Given the description of an element on the screen output the (x, y) to click on. 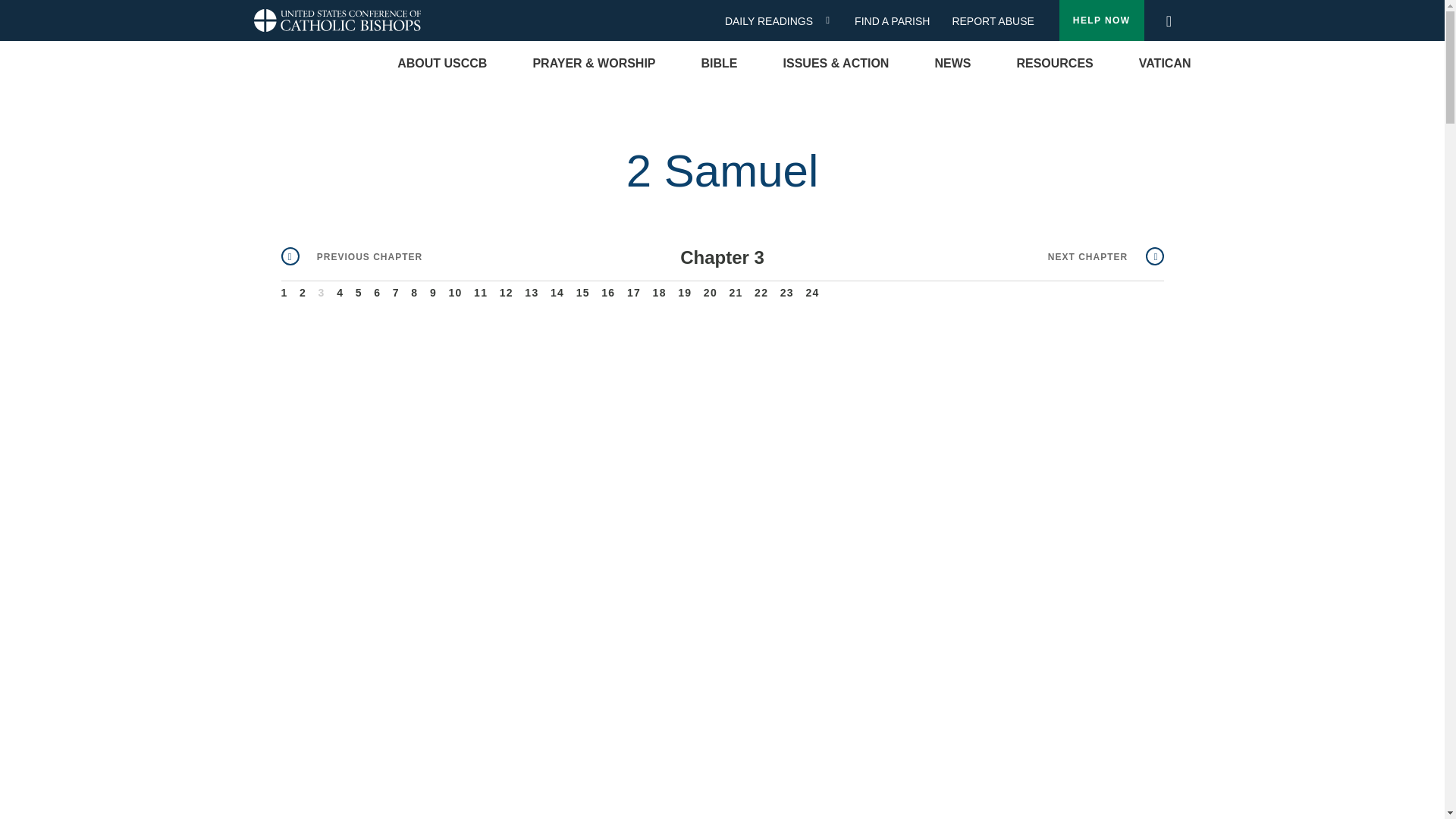
DAILY READINGS (774, 20)
Go to previous page (351, 256)
Go (1173, 21)
HELP NOW (1101, 20)
REPORT ABUSE (992, 20)
FIND A PARISH (897, 20)
DAILY READINGS CALENDAR (832, 20)
Search (1168, 16)
Link list for Vatican website (1165, 62)
